Given the description of an element on the screen output the (x, y) to click on. 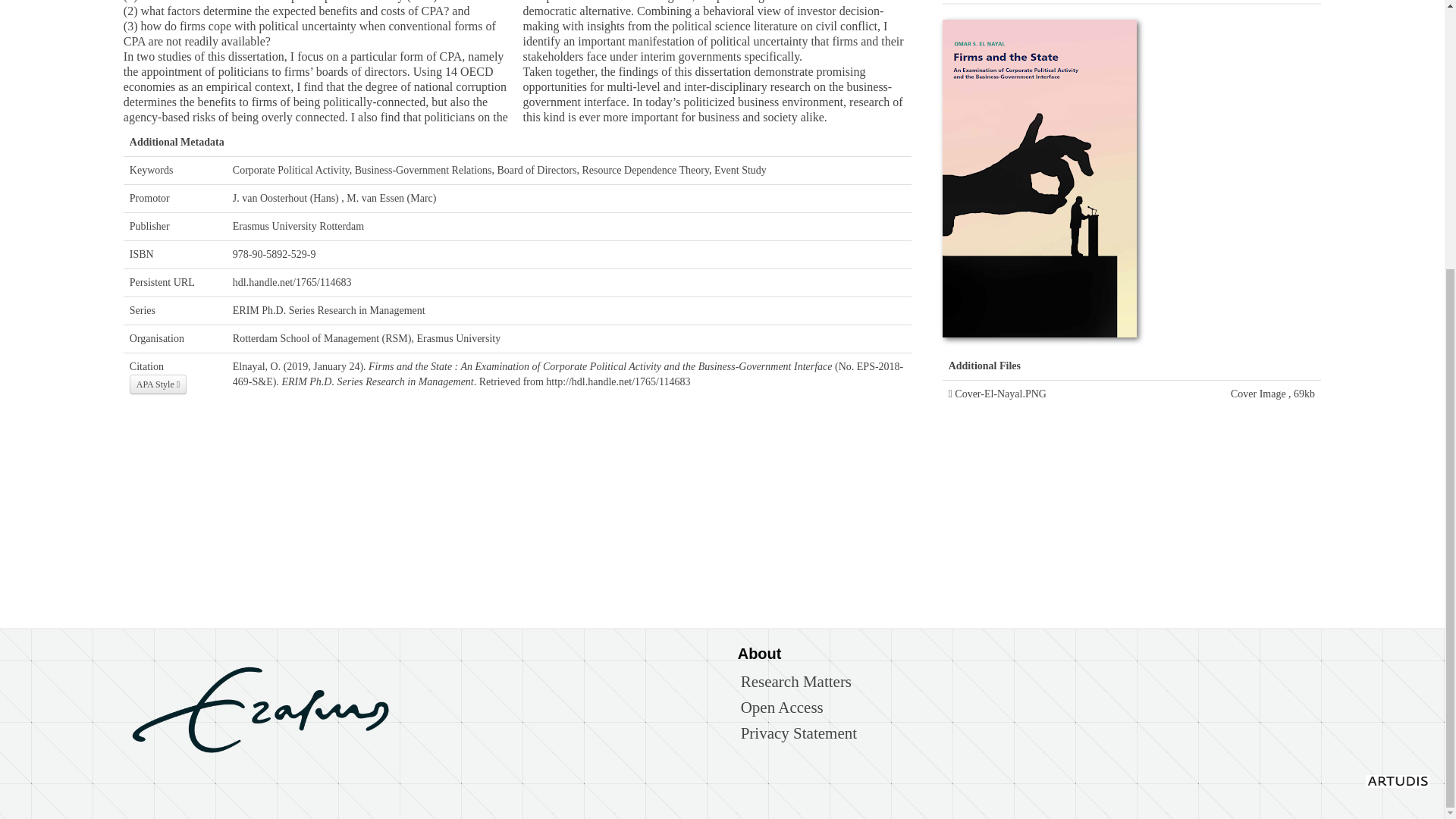
APA Style (157, 383)
Erasmus University Rotterdam (298, 225)
ERIM Ph.D. Series Research in Management (328, 310)
